Given the description of an element on the screen output the (x, y) to click on. 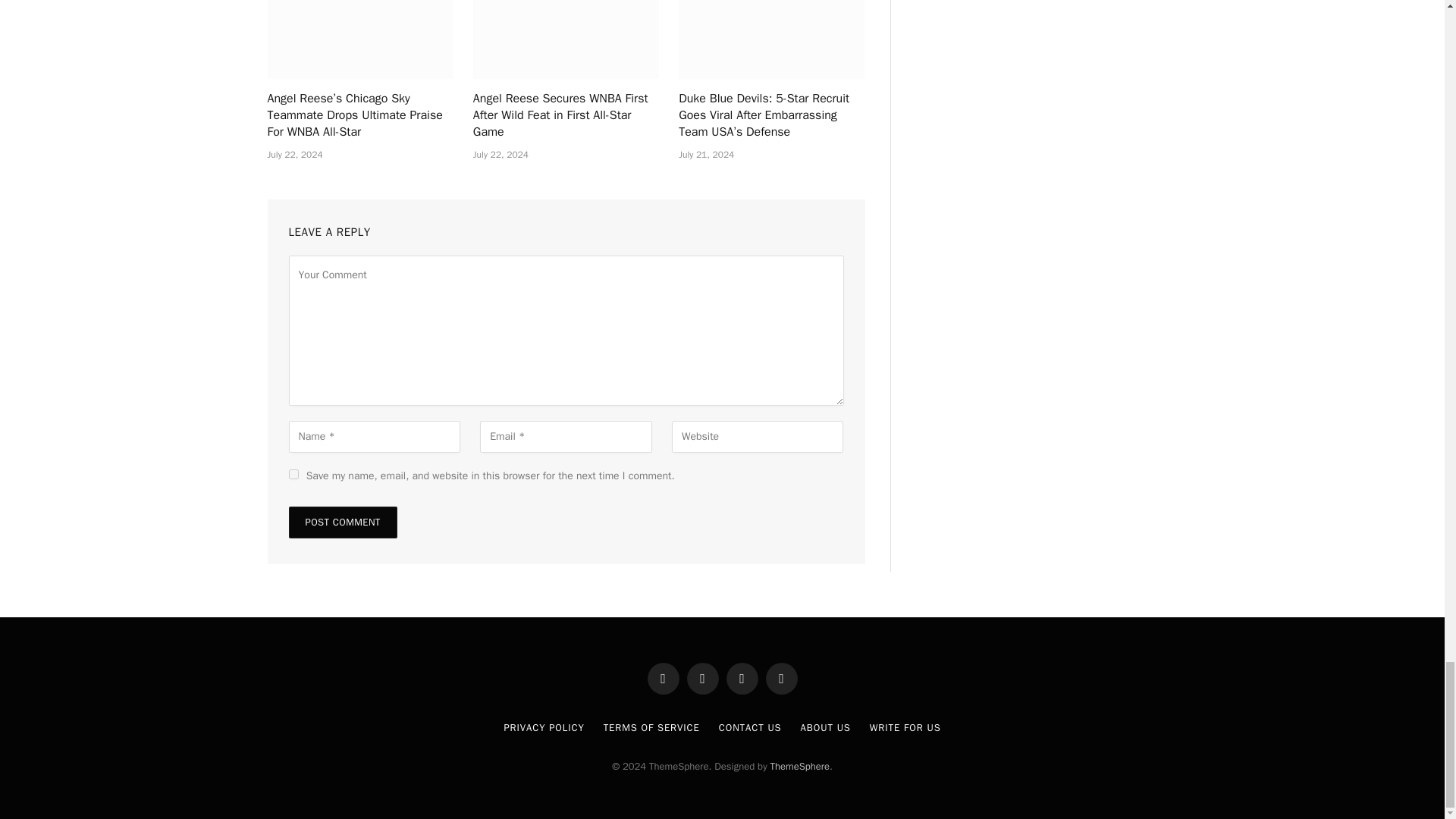
yes (293, 474)
Post Comment (342, 522)
